Given the description of an element on the screen output the (x, y) to click on. 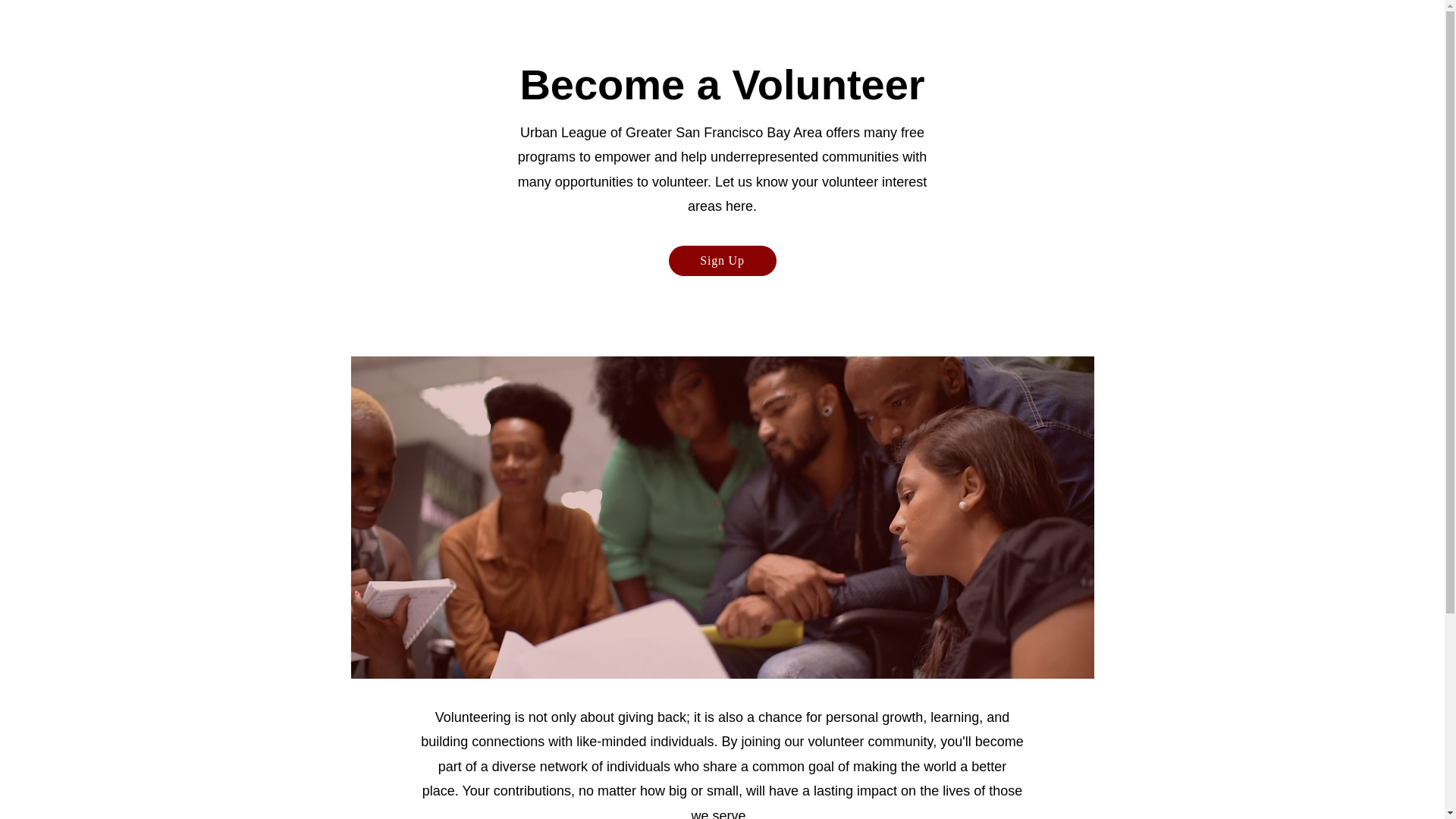
Sign Up (722, 260)
